Given the description of an element on the screen output the (x, y) to click on. 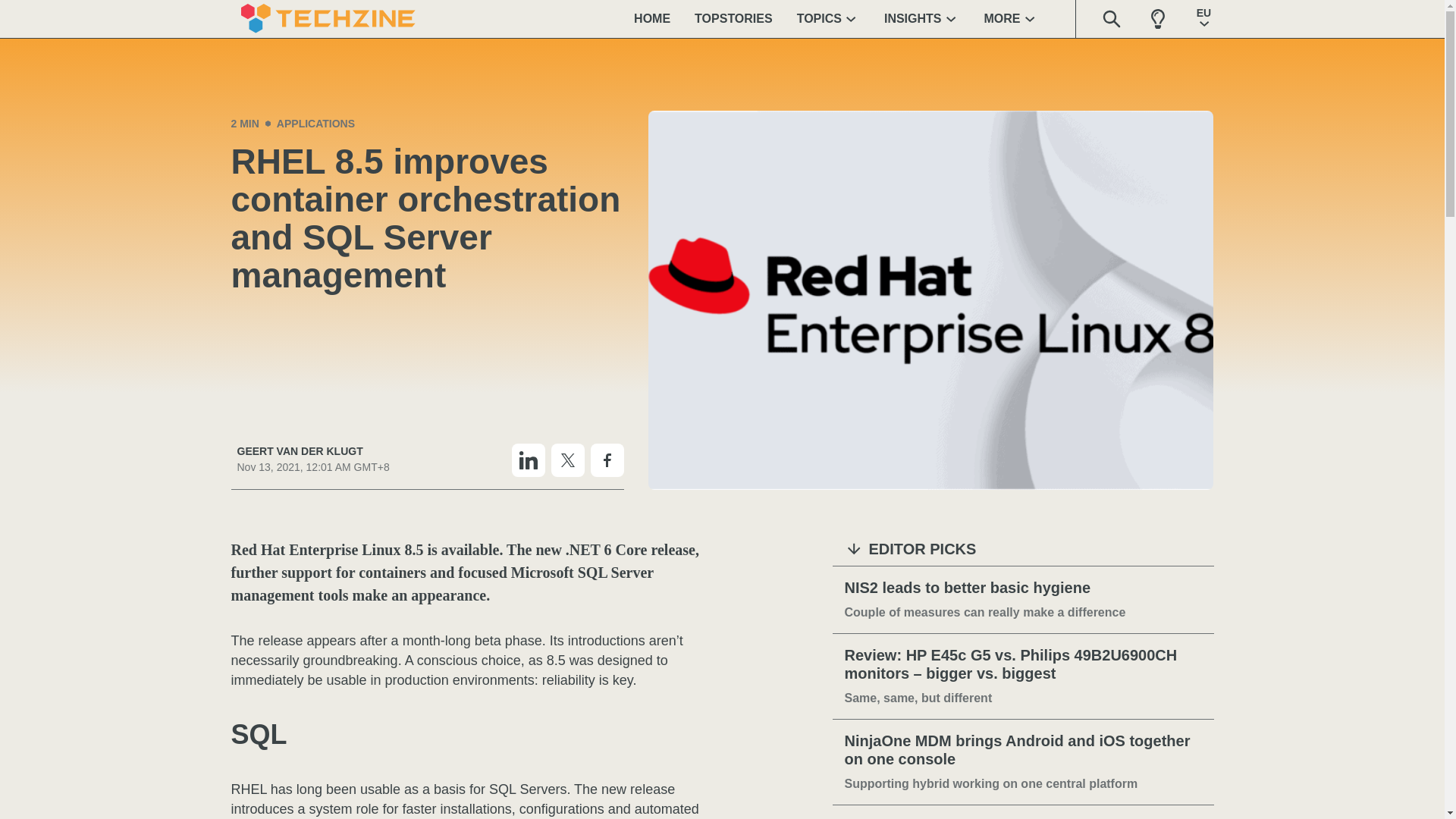
TOPICS (828, 18)
INSIGHTS (922, 18)
TOPSTORIES (733, 18)
NIS2 leads to better basic hygiene (1023, 588)
HOME (651, 18)
GEERT VAN DER KLUGT (311, 451)
NinjaOne MDM brings Android and iOS together on one console (1023, 750)
MORE (1011, 18)
APPLICATIONS (315, 123)
